Given the description of an element on the screen output the (x, y) to click on. 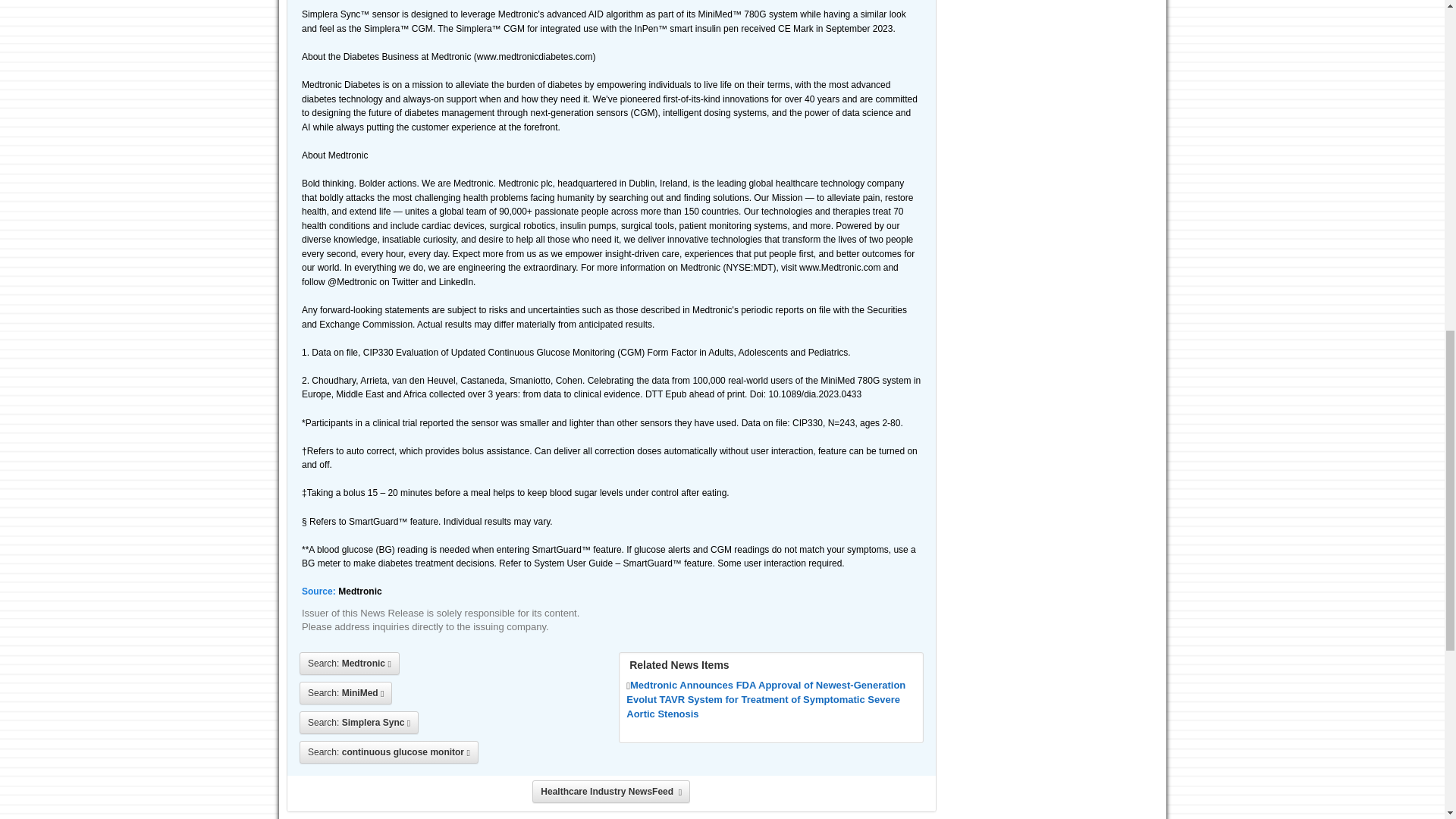
Advertisement (1054, 85)
